Given the description of an element on the screen output the (x, y) to click on. 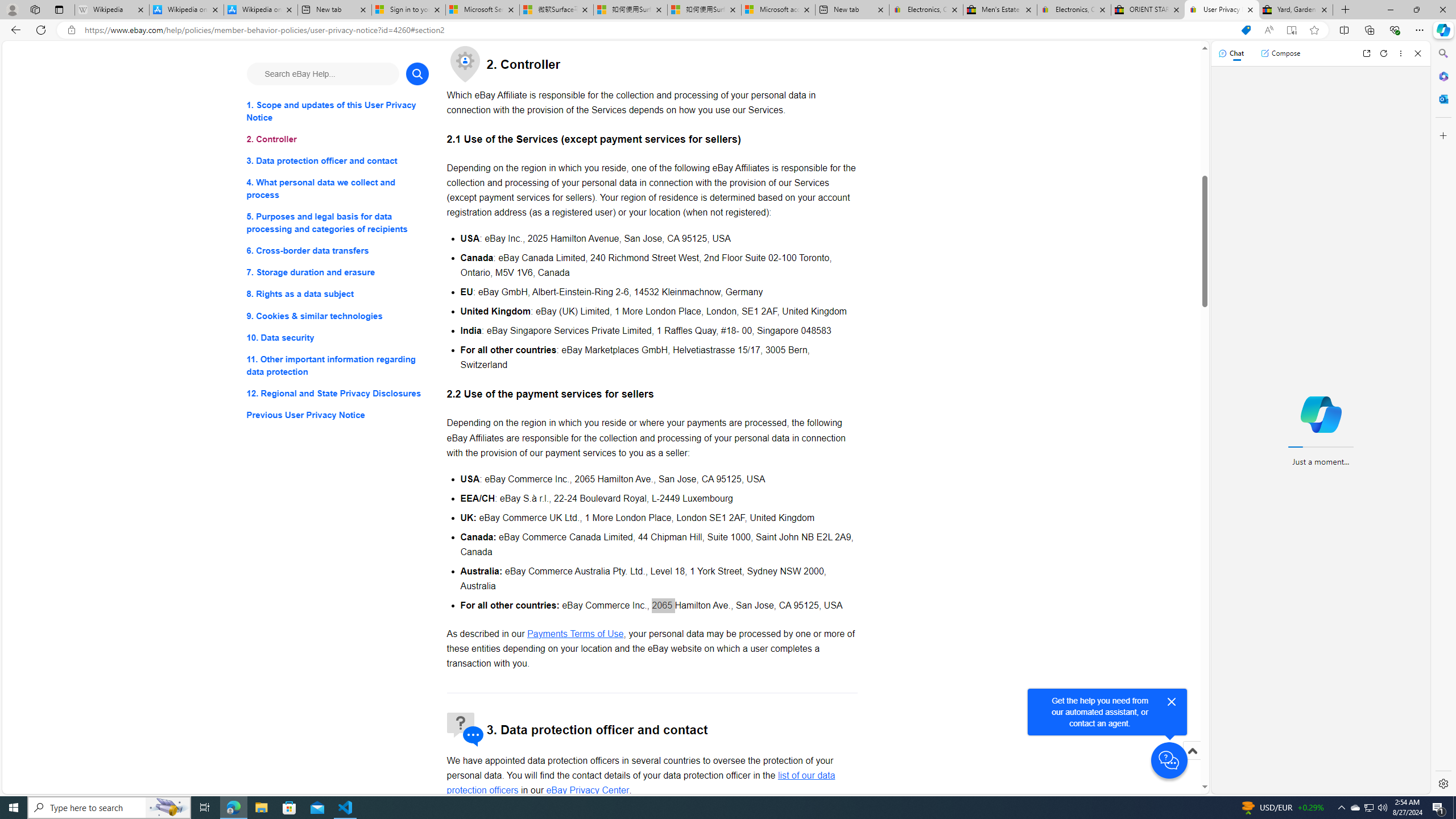
9. Cookies & similar technologies (337, 315)
4. What personal data we collect and process (337, 189)
Scroll to top (1191, 750)
Search eBay Help... (322, 73)
Payments Terms of Use - opens in new window or tab (575, 633)
